Given the description of an element on the screen output the (x, y) to click on. 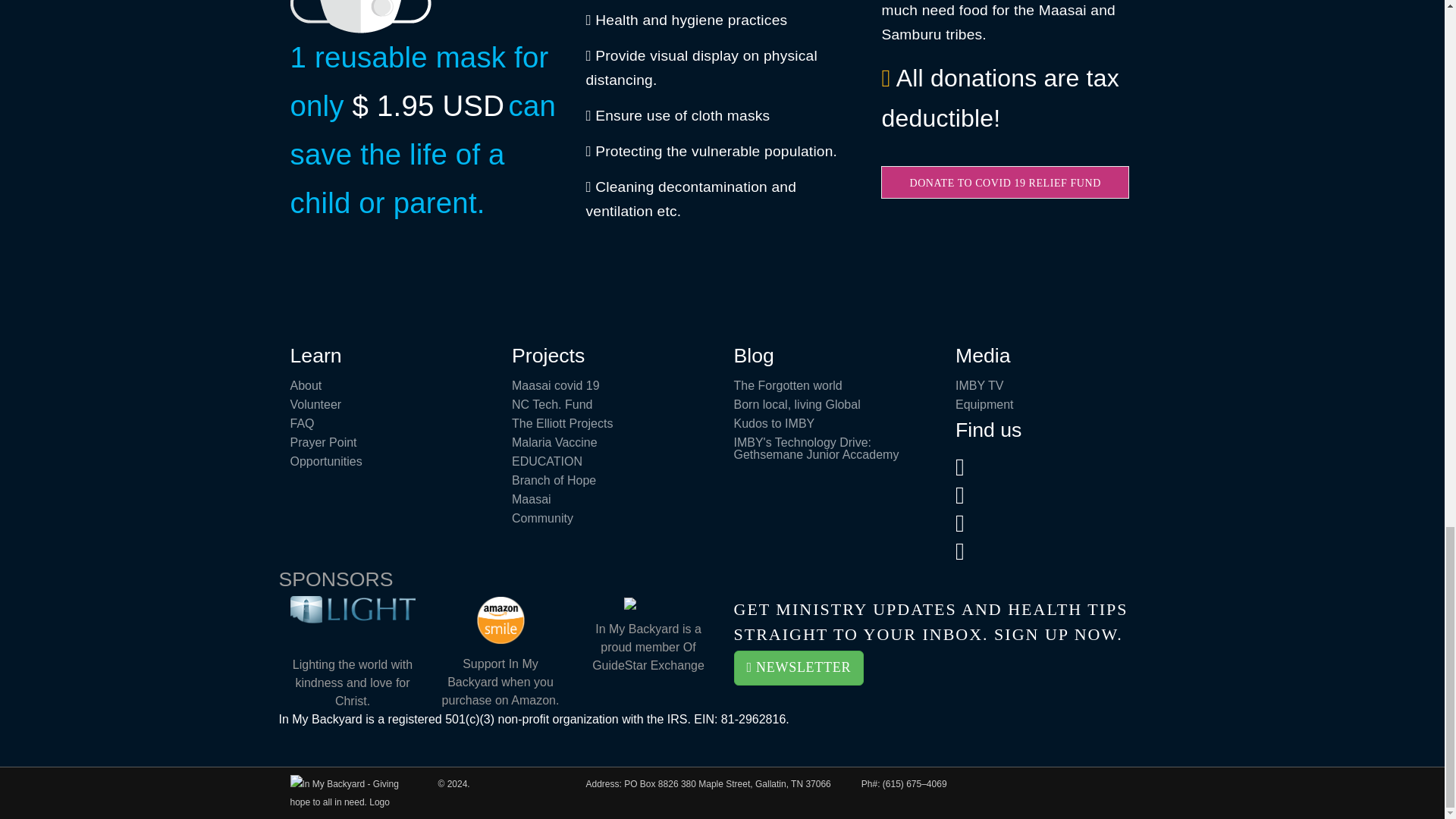
instagram (967, 550)
In My Backyard - Giving hope to all in need. (351, 792)
twitter (967, 467)
Survey (798, 669)
linkedin (967, 494)
facebook (967, 523)
